Given the description of an element on the screen output the (x, y) to click on. 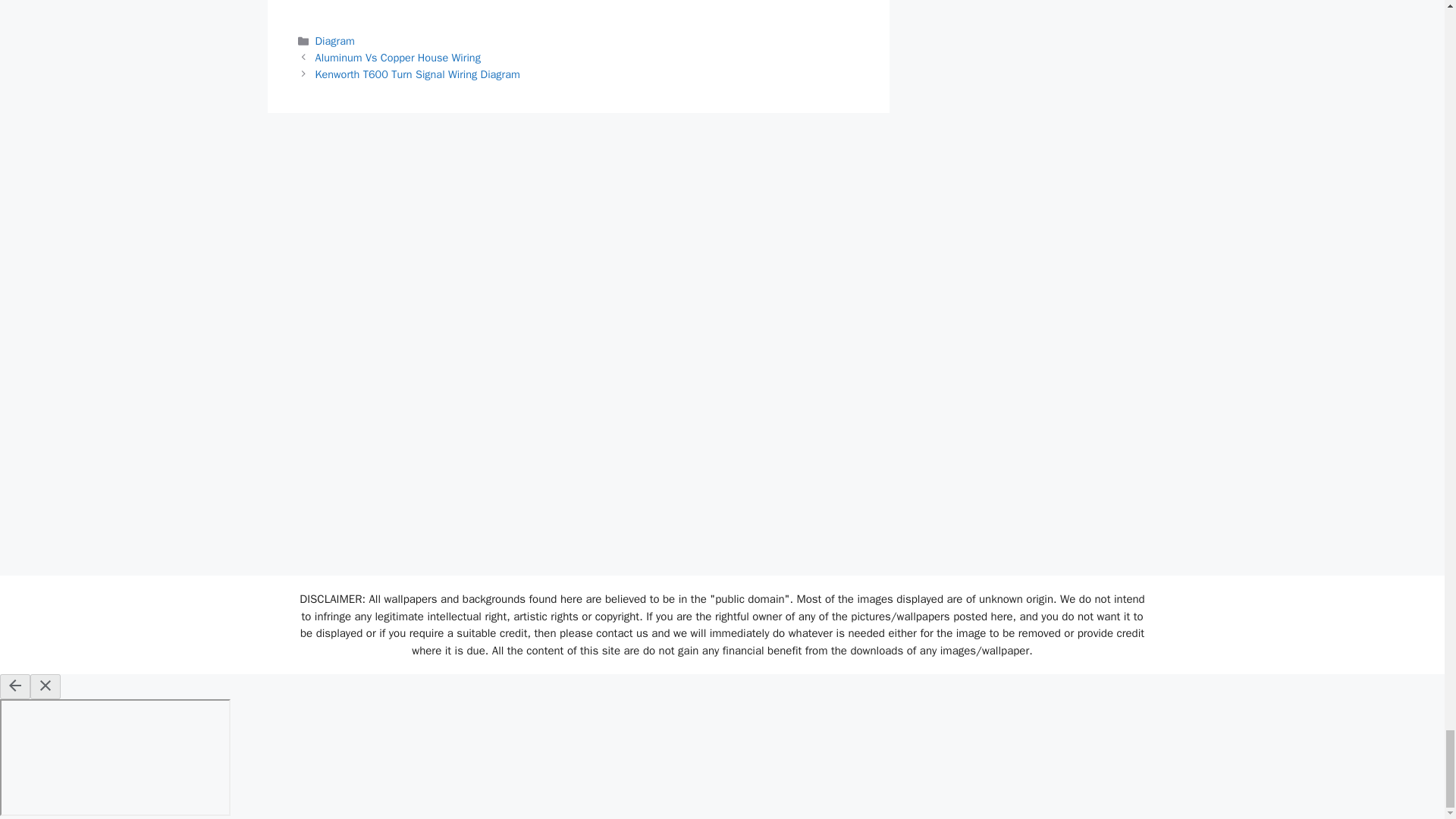
Aluminum Vs Copper House Wiring (397, 57)
Kenworth T600 Turn Signal Wiring Diagram (417, 74)
Diagram (335, 40)
